Given the description of an element on the screen output the (x, y) to click on. 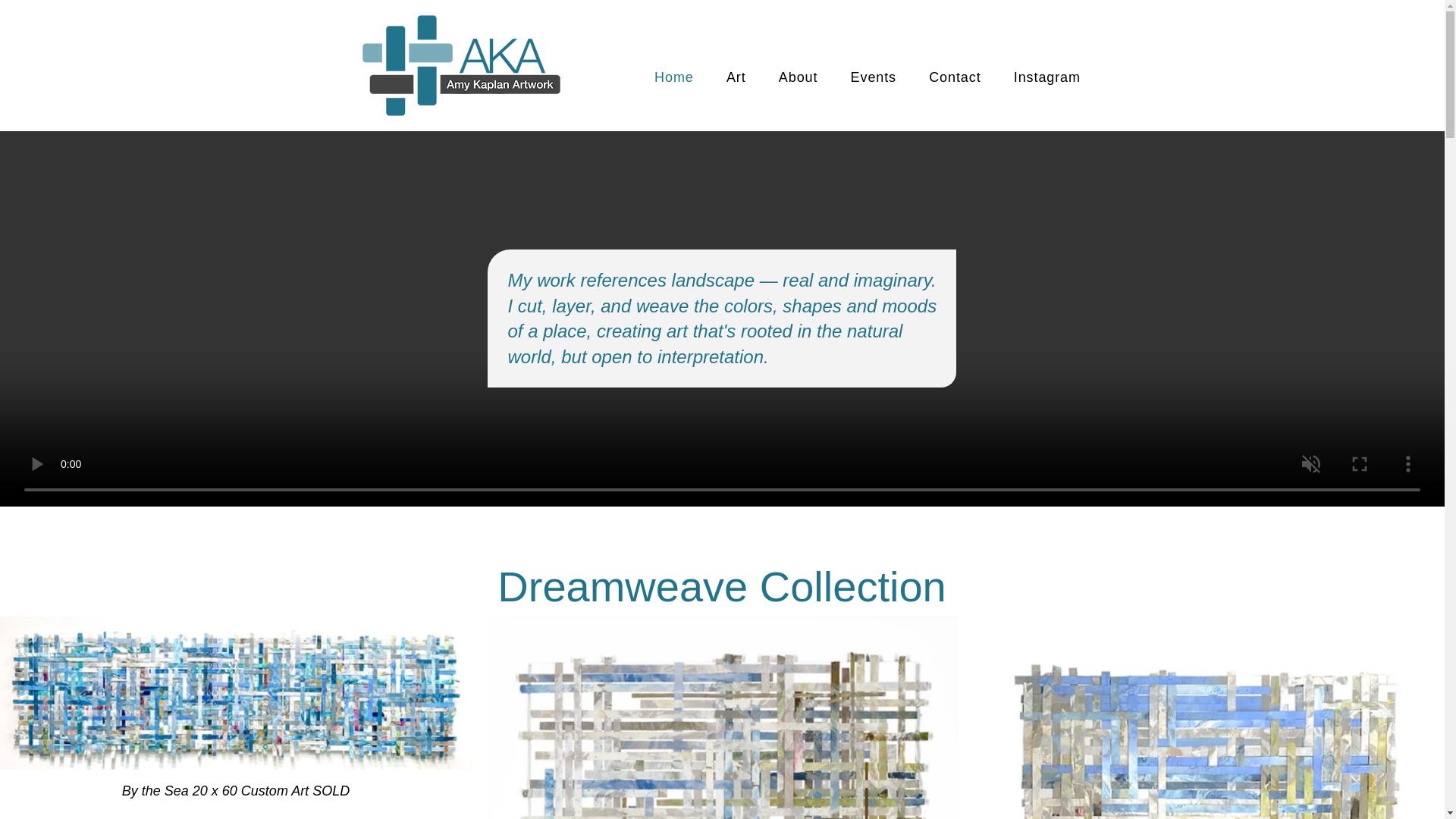
Events (873, 77)
Contact (954, 77)
Art (735, 77)
About (798, 77)
Instagram (1046, 77)
Home (674, 77)
